Given the description of an element on the screen output the (x, y) to click on. 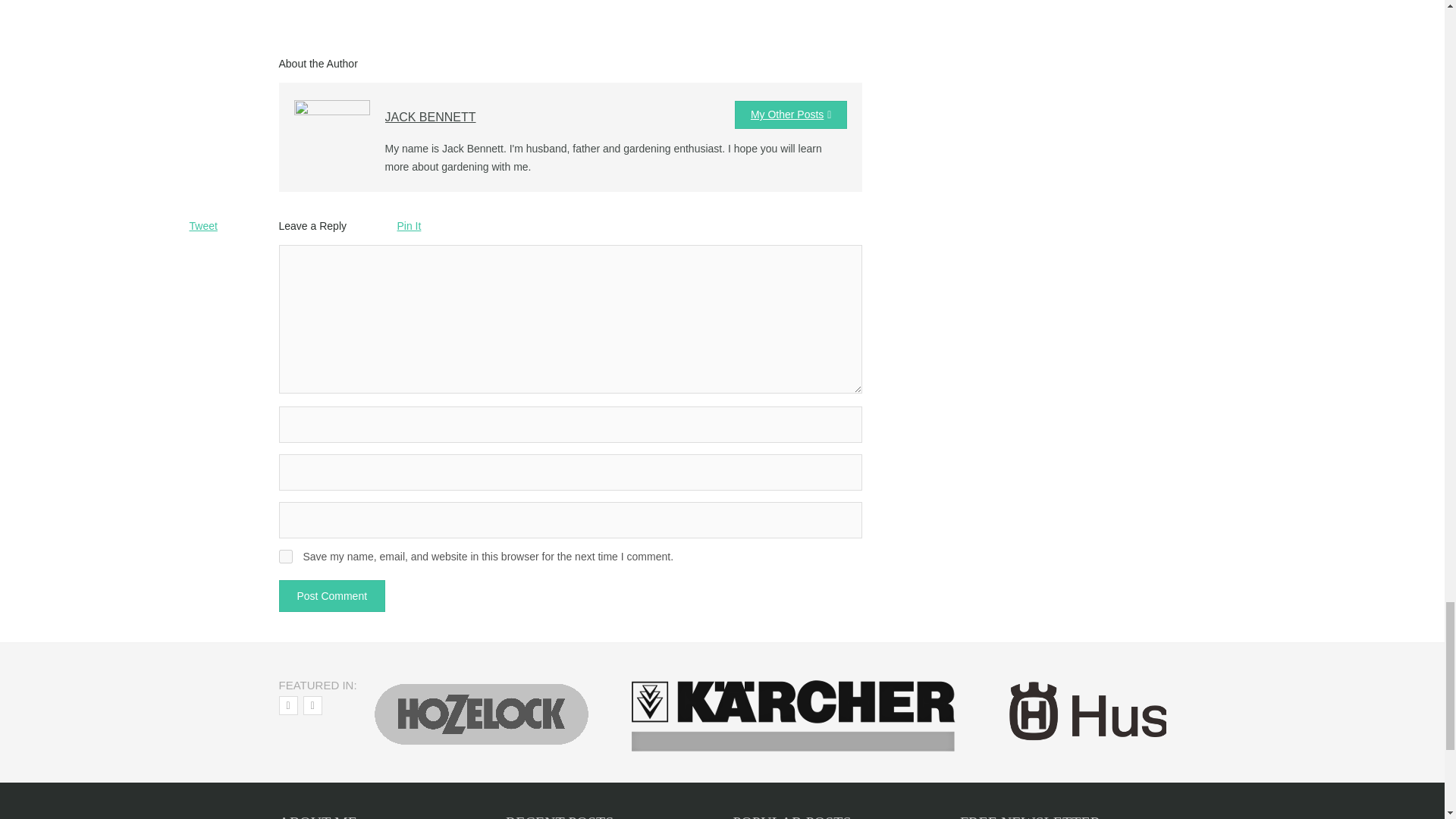
How To Revive Bamboo Leaves Turning Yellow? (689, 15)
JACK BENNETT (430, 116)
My Other Posts (791, 114)
Post Comment (332, 595)
yes (285, 556)
Post Comment (332, 595)
